Given the description of an element on the screen output the (x, y) to click on. 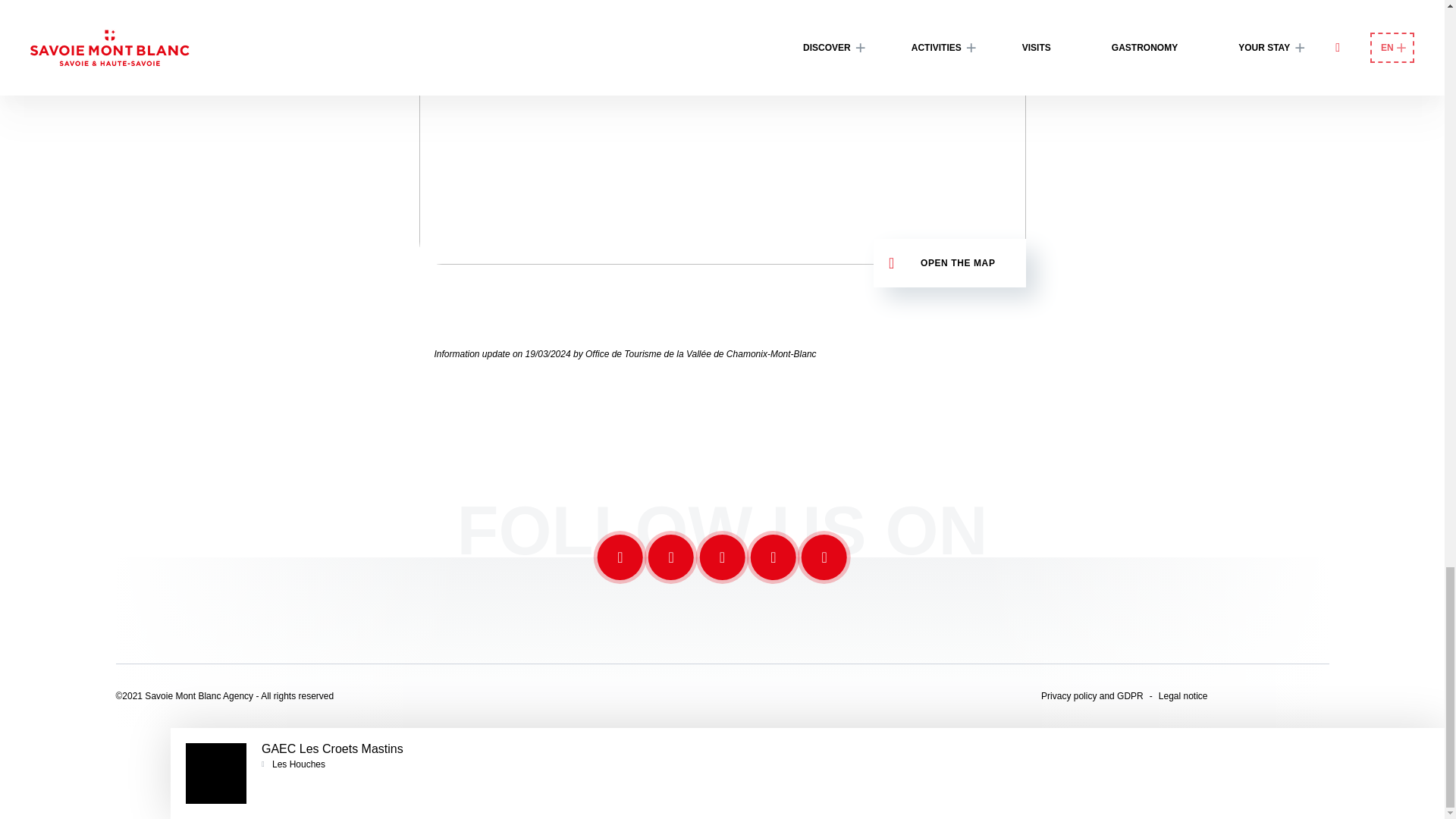
OPEN THE MAP (949, 263)
Legal notice (1179, 696)
Privacy policy and GDPR (1091, 696)
